Given the description of an element on the screen output the (x, y) to click on. 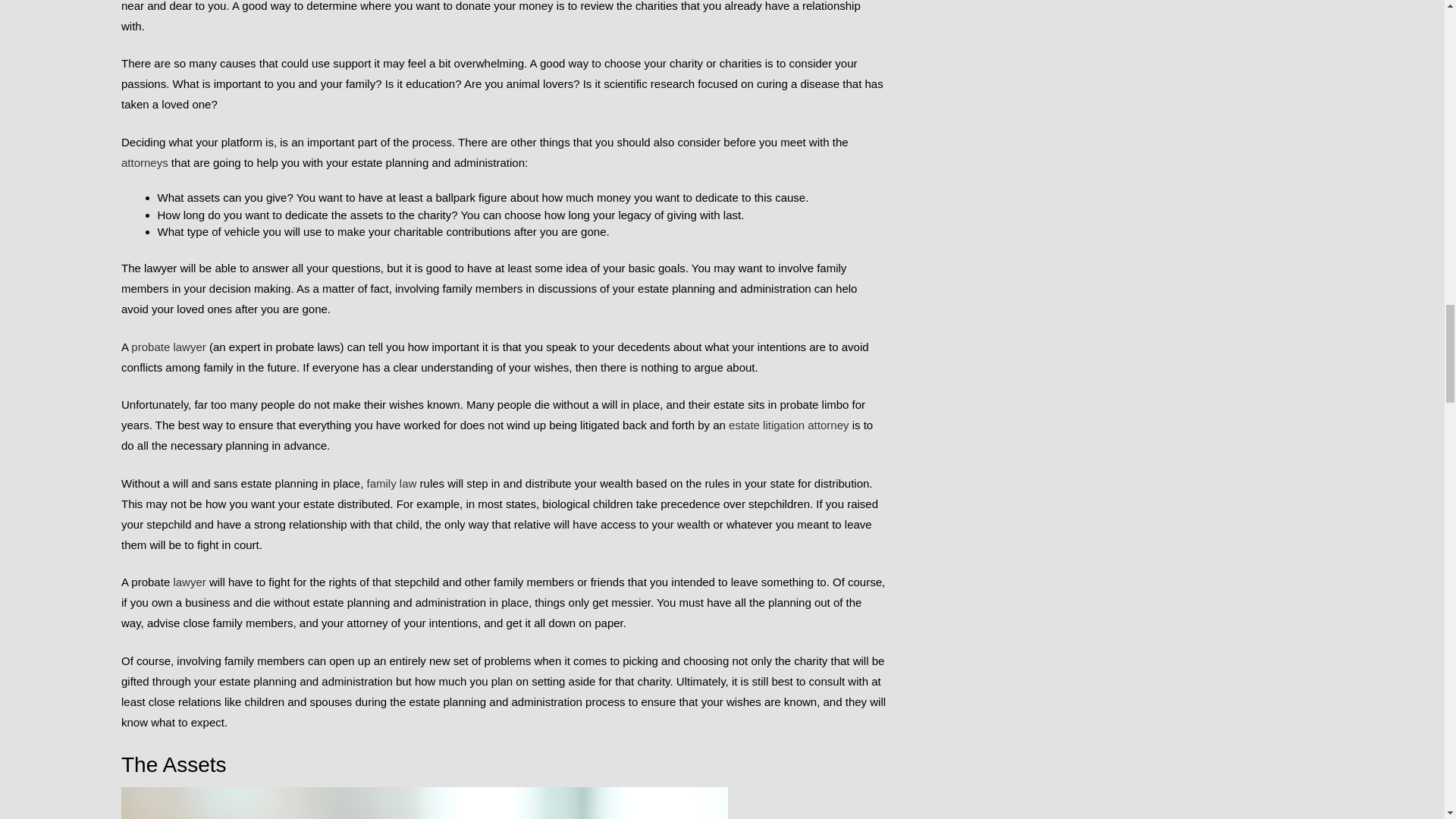
lawyer (191, 581)
attorneys (144, 162)
family law (391, 482)
estate litigation attorney (788, 424)
probate lawyer (168, 346)
